Given the description of an element on the screen output the (x, y) to click on. 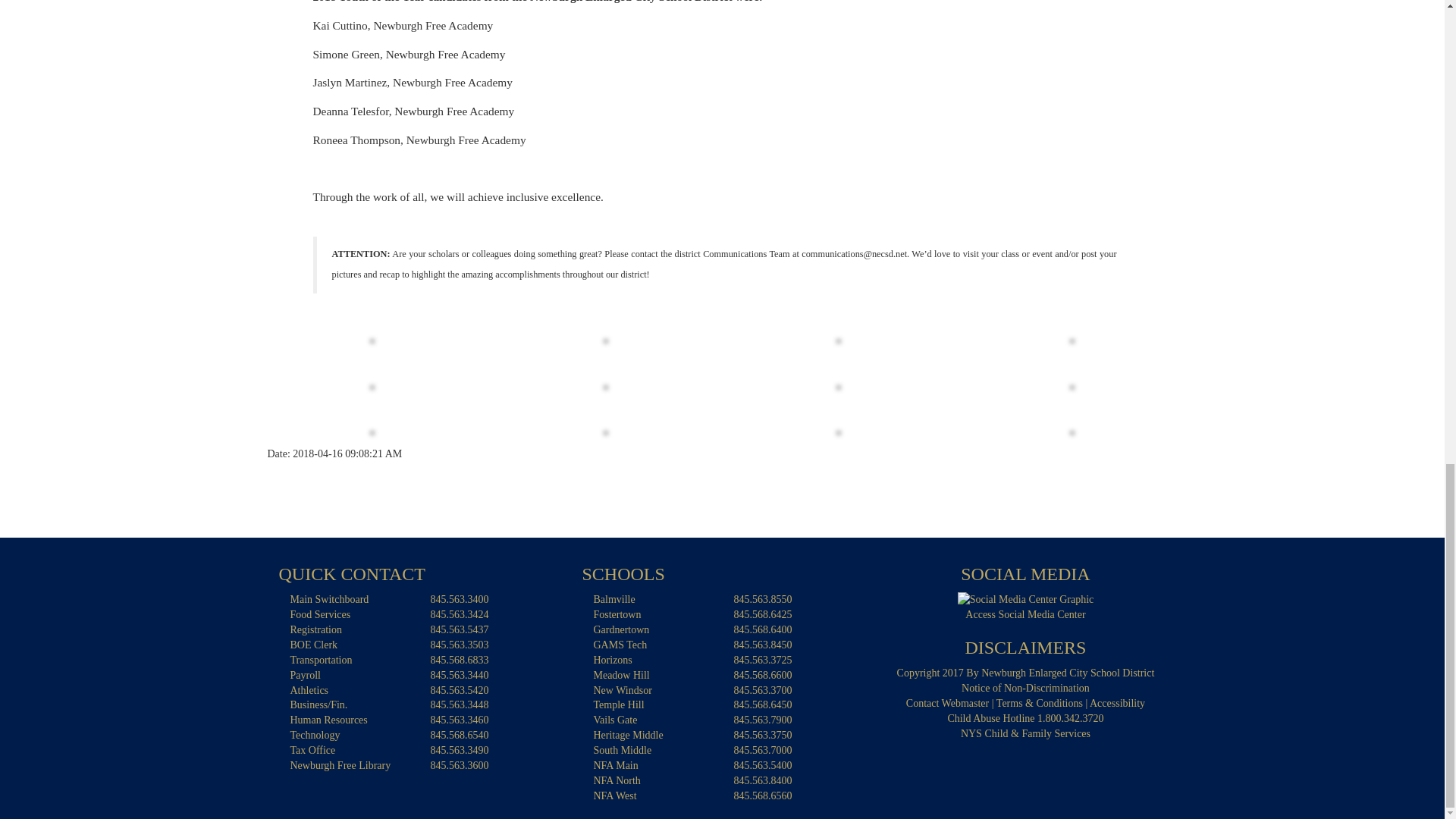
Access Social Media Center (1026, 599)
